Given the description of an element on the screen output the (x, y) to click on. 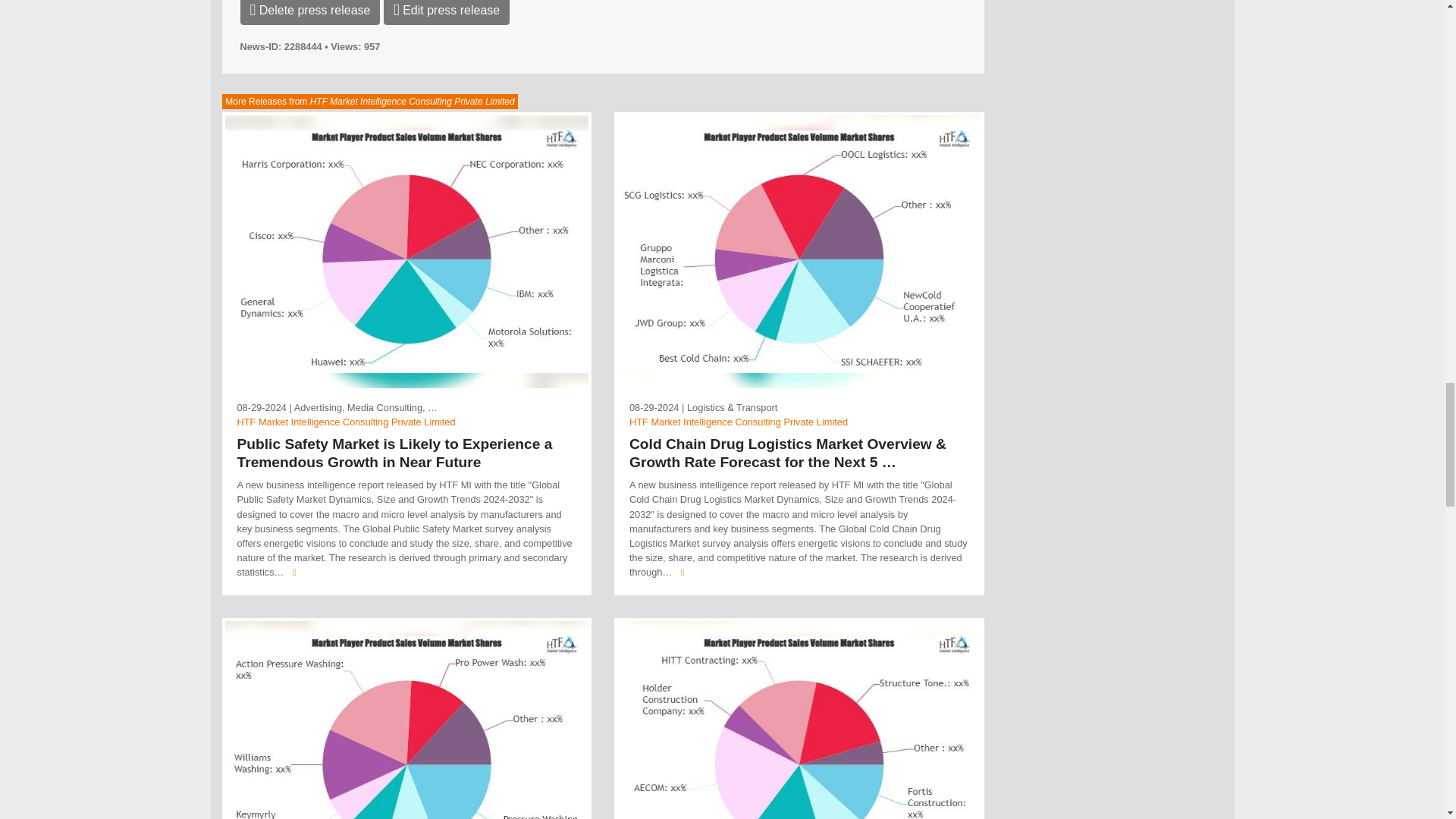
Advertising, Media Consulting, Marketing Research (366, 407)
